Given the description of an element on the screen output the (x, y) to click on. 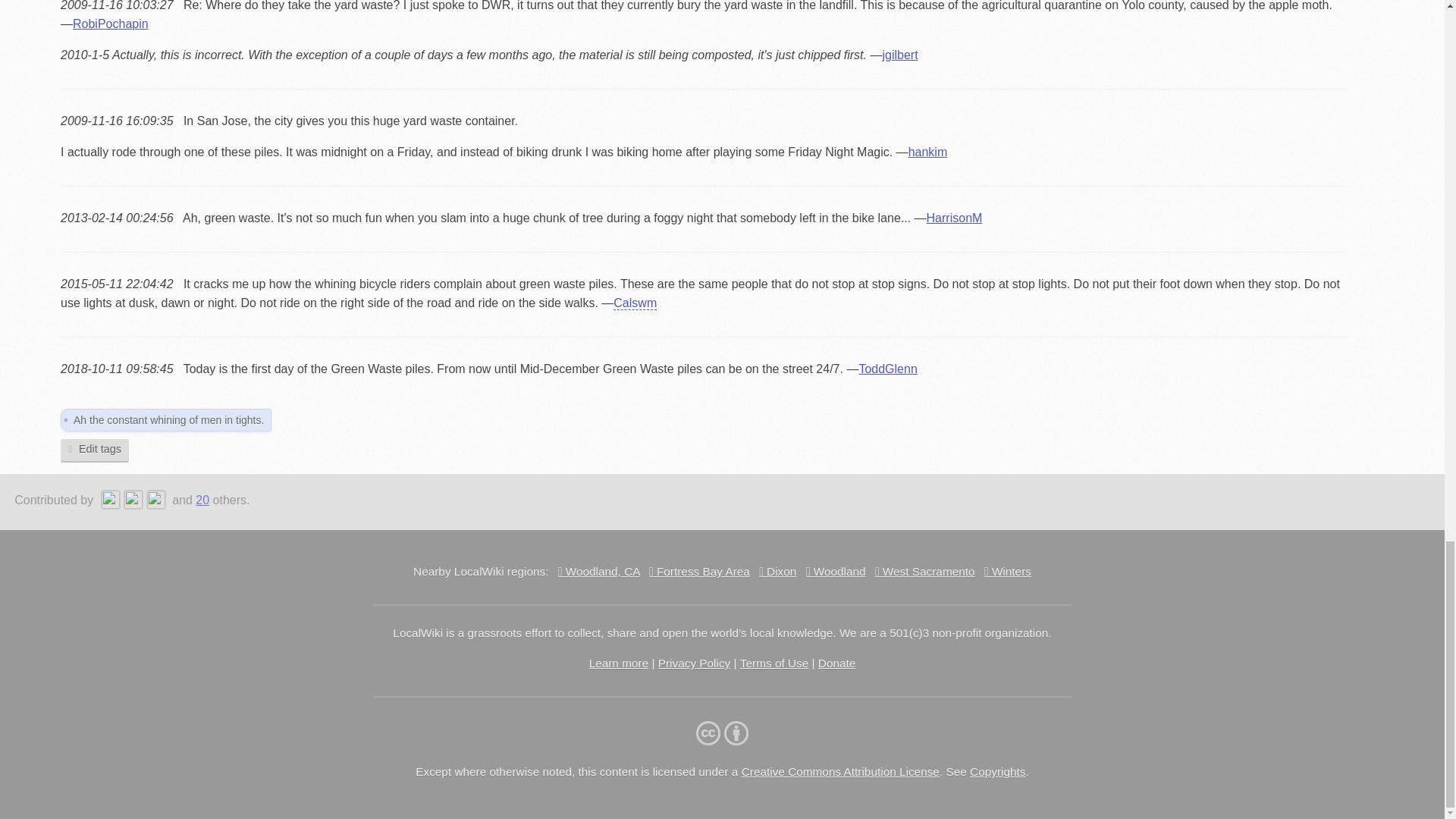
jgilbert (111, 499)
ToddGlenn (135, 499)
StevenDaubert (157, 499)
